Given the description of an element on the screen output the (x, y) to click on. 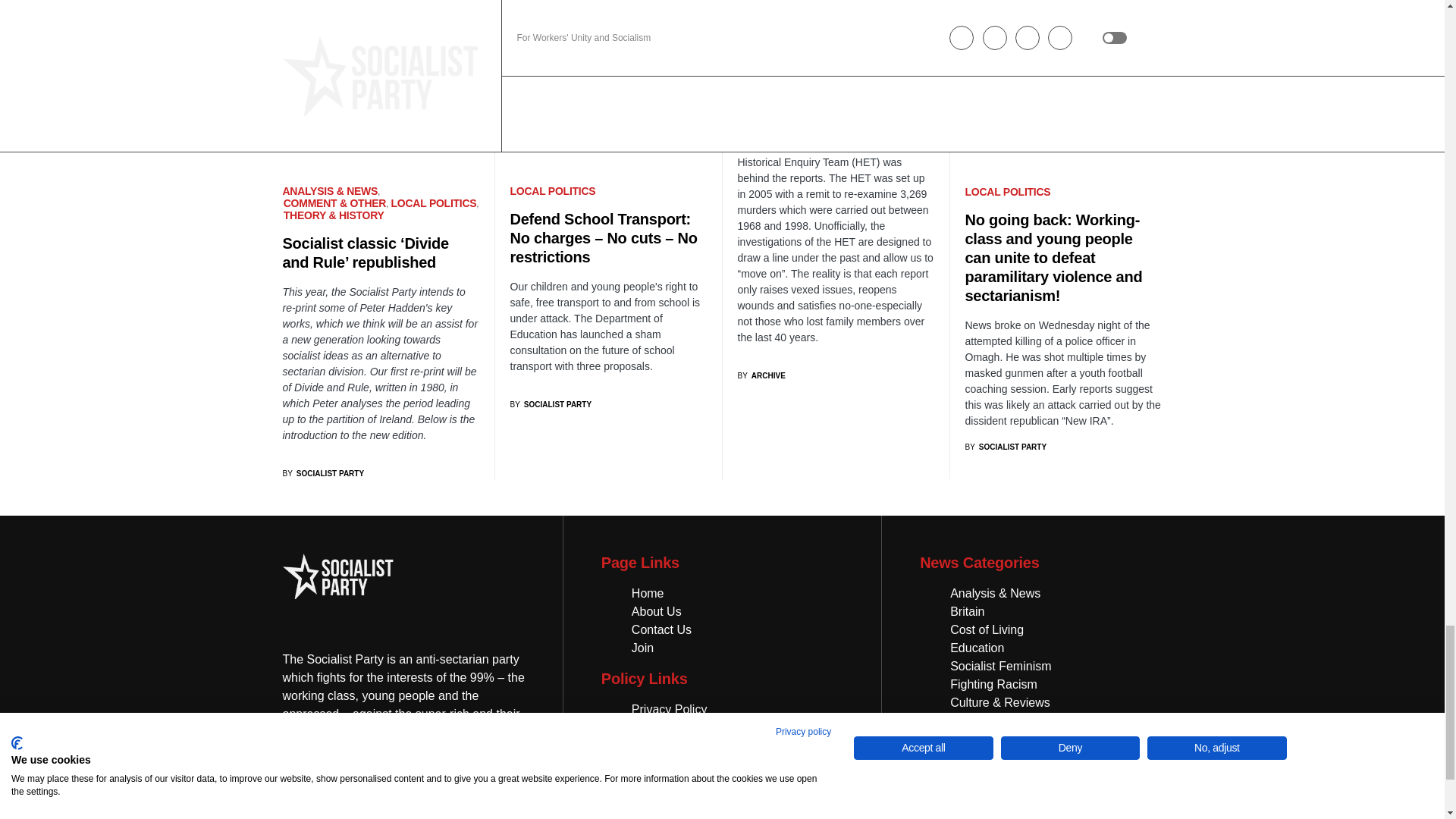
View all posts by Socialist Party (550, 404)
View all posts by Archive (760, 375)
View all posts by Socialist Party (323, 473)
View all posts by Socialist Party (1004, 446)
